Given the description of an element on the screen output the (x, y) to click on. 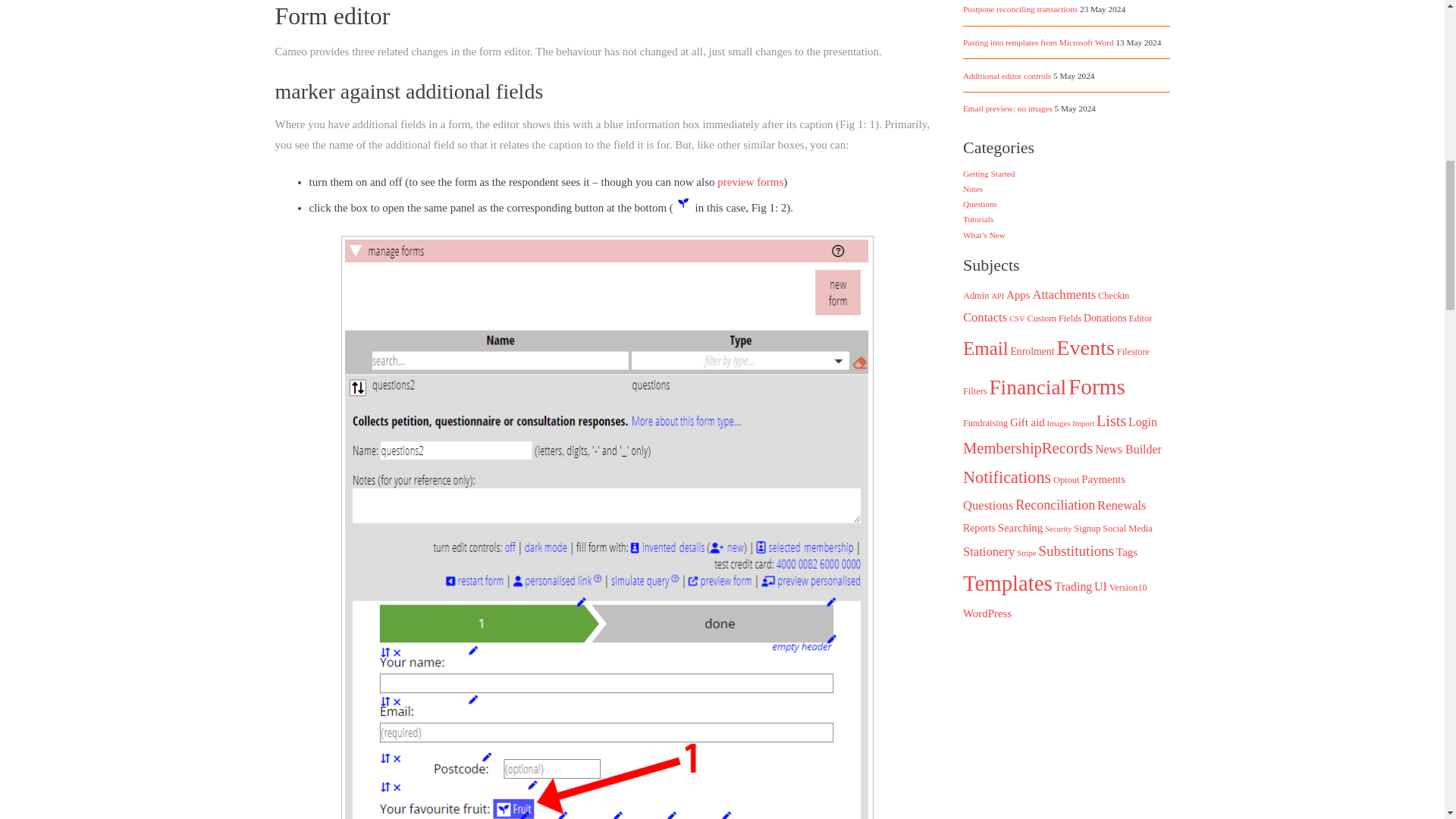
preview forms (750, 182)
